Given the description of an element on the screen output the (x, y) to click on. 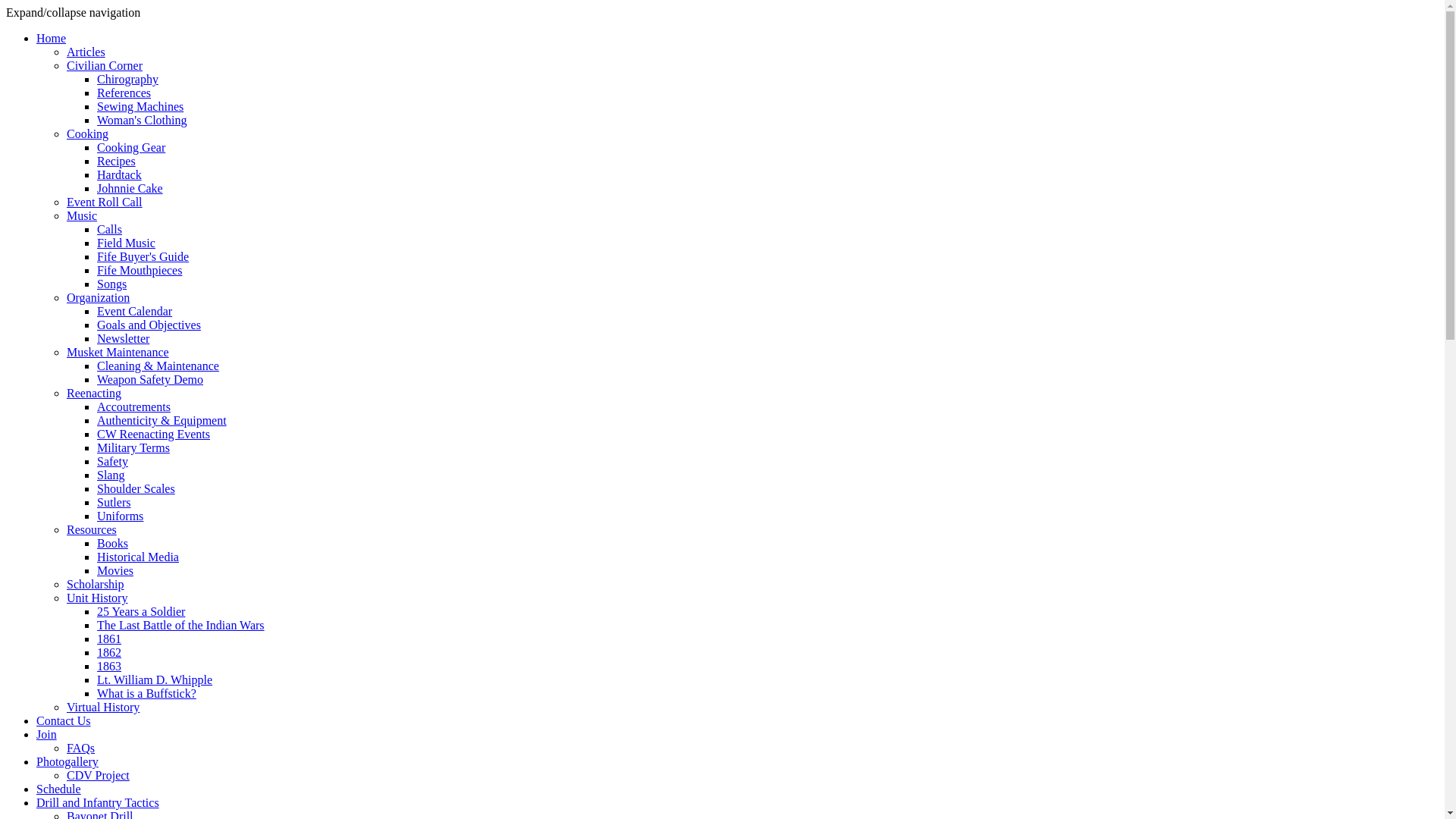
Event Calendar Element type: text (134, 310)
Songs Element type: text (111, 283)
Uniforms Element type: text (120, 515)
Goals and Objectives Element type: text (148, 324)
Calls Element type: text (109, 228)
Weapon Safety Demo Element type: text (150, 379)
Cooking Element type: text (87, 133)
1862 Element type: text (109, 652)
Musket Maintenance Element type: text (117, 351)
Movies Element type: text (115, 570)
Contact Us Element type: text (63, 720)
CDV Project Element type: text (97, 774)
Books Element type: text (112, 542)
Slang Element type: text (110, 474)
FAQs Element type: text (80, 747)
Drill and Infantry Tactics Element type: text (97, 802)
Event Roll Call Element type: text (104, 201)
Woman's Clothing Element type: text (141, 119)
Safety Element type: text (112, 461)
Articles Element type: text (85, 51)
Music Element type: text (81, 215)
Virtual History Element type: text (102, 706)
Authenticity & Equipment Element type: text (161, 420)
Cooking Gear Element type: text (131, 147)
Hardtack Element type: text (119, 174)
Home Element type: text (50, 37)
Johnnie Cake Element type: text (130, 188)
1861 Element type: text (109, 638)
The Last Battle of the Indian Wars Element type: text (180, 624)
Shoulder Scales Element type: text (136, 488)
Cleaning & Maintenance Element type: text (158, 365)
Scholarship Element type: text (95, 583)
Photogallery Element type: text (67, 761)
CW Reenacting Events Element type: text (153, 433)
Accoutrements Element type: text (133, 406)
25 Years a Soldier Element type: text (141, 611)
Organization Element type: text (97, 297)
Unit History Element type: text (96, 597)
Sewing Machines Element type: text (140, 106)
Military Terms Element type: text (133, 447)
Expand/collapse navigation Element type: text (73, 12)
Reenacting Element type: text (93, 392)
Fife Buyer's Guide Element type: text (142, 256)
Schedule Element type: text (58, 788)
References Element type: text (123, 92)
Recipes Element type: text (116, 160)
Newsletter Element type: text (123, 338)
Sutlers Element type: text (113, 501)
Fife Mouthpieces Element type: text (139, 269)
Field Music Element type: text (126, 242)
Join Element type: text (46, 734)
Chirography Element type: text (127, 78)
1863 Element type: text (109, 665)
Civilian Corner Element type: text (104, 65)
Resources Element type: text (91, 529)
Historical Media Element type: text (137, 556)
Lt. William D. Whipple Element type: text (154, 679)
What is a Buffstick? Element type: text (146, 693)
